Given the description of an element on the screen output the (x, y) to click on. 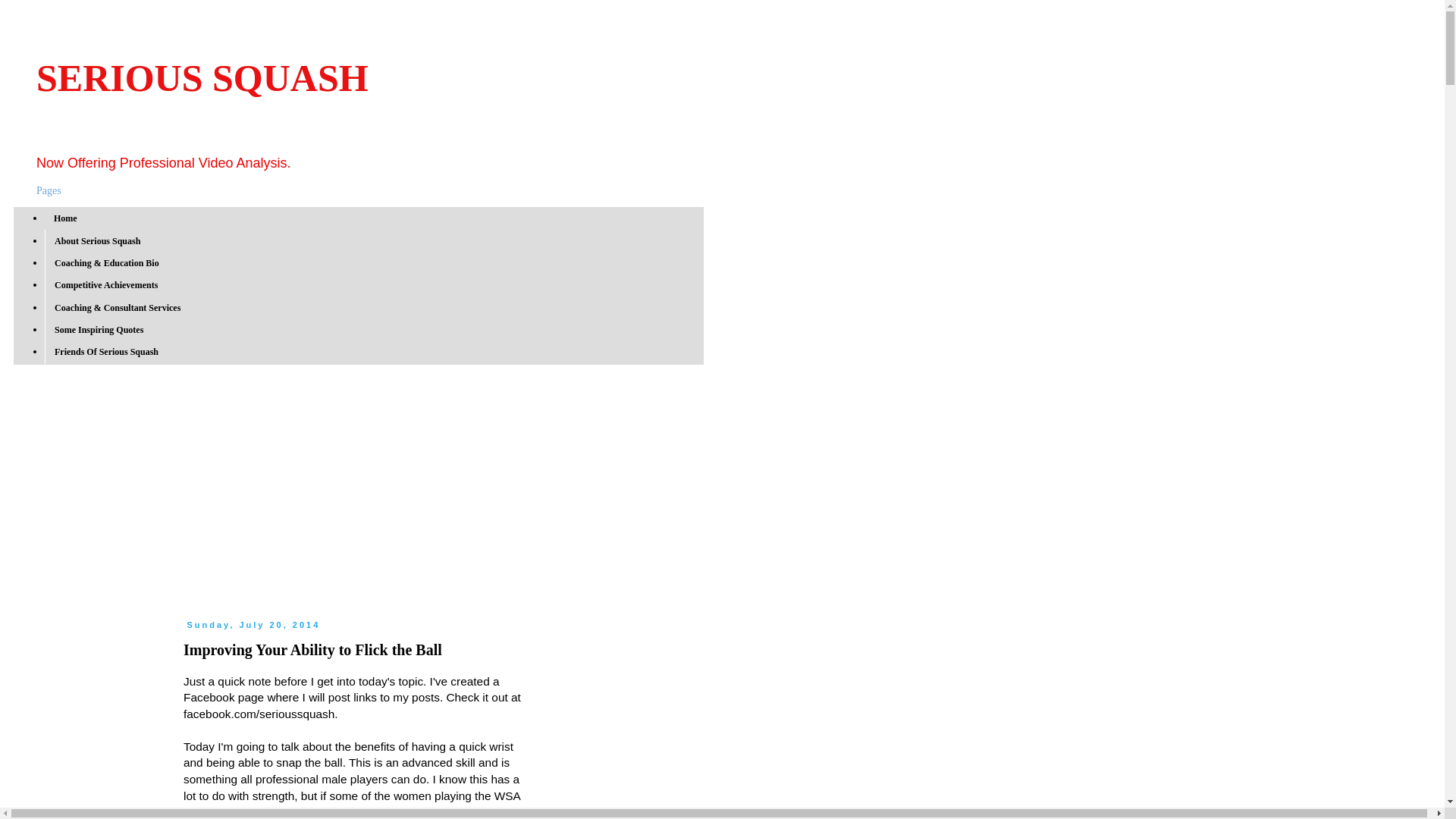
Home (66, 219)
SERIOUS SQUASH (202, 77)
Friends Of Serious Squash (106, 352)
About Serious Squash (97, 240)
Competitive Achievements (106, 285)
Some Inspiring Quotes (98, 330)
